Given the description of an element on the screen output the (x, y) to click on. 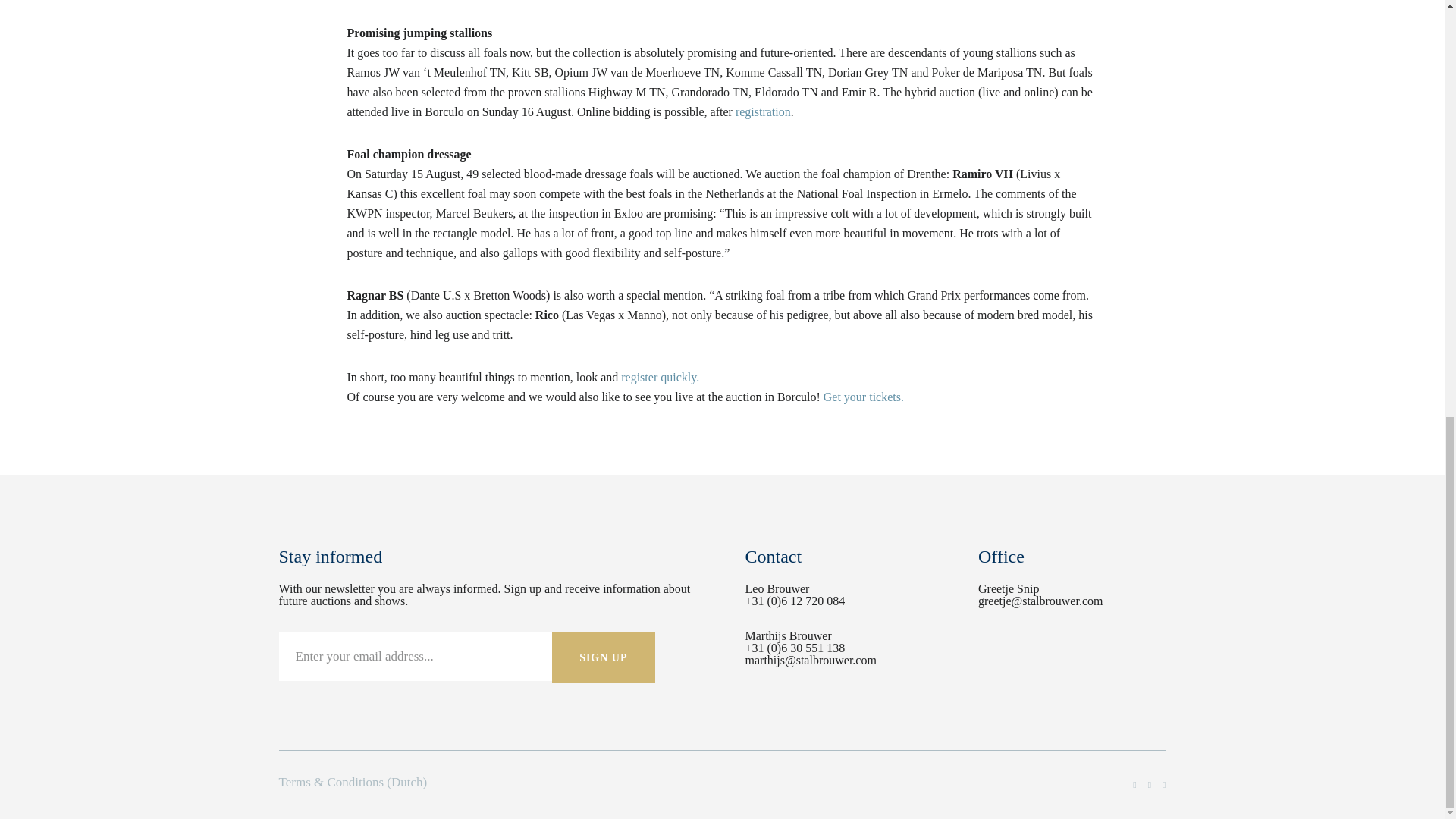
register quickly. (659, 377)
registration (762, 111)
Get your tickets. (864, 396)
Sign up (603, 657)
Sign up (603, 657)
